Given the description of an element on the screen output the (x, y) to click on. 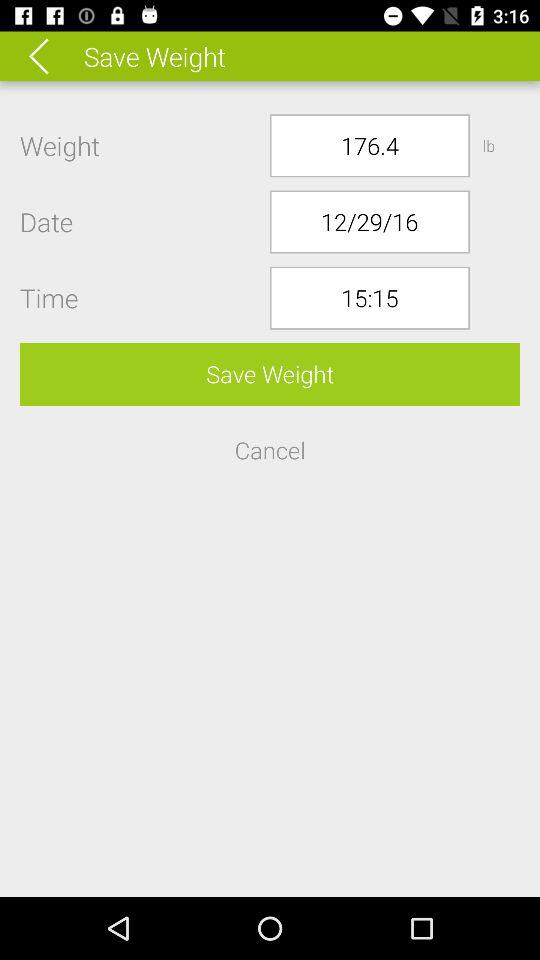
go to previous (52, 56)
